Given the description of an element on the screen output the (x, y) to click on. 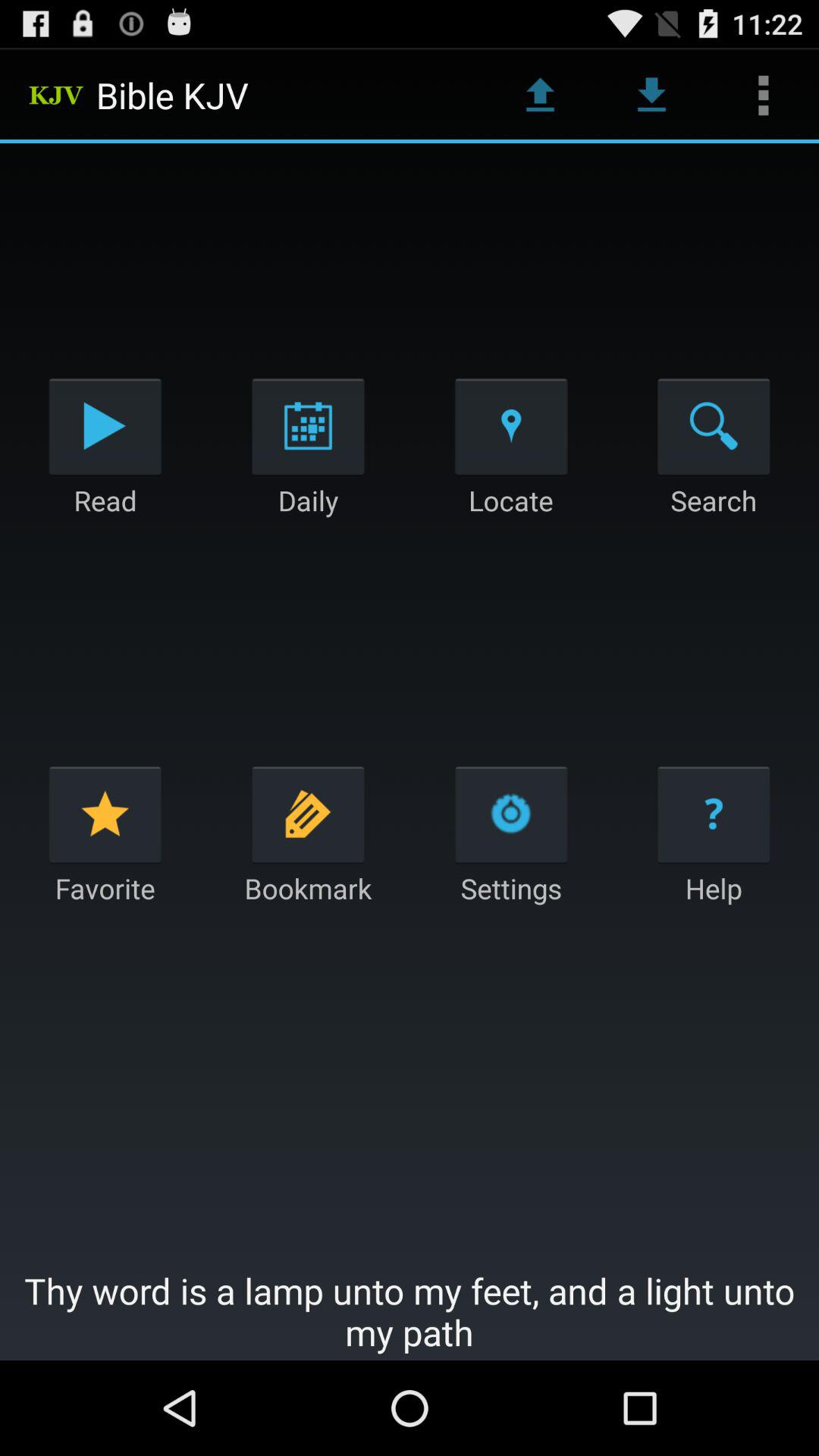
tap the app above daily (307, 425)
